Given the description of an element on the screen output the (x, y) to click on. 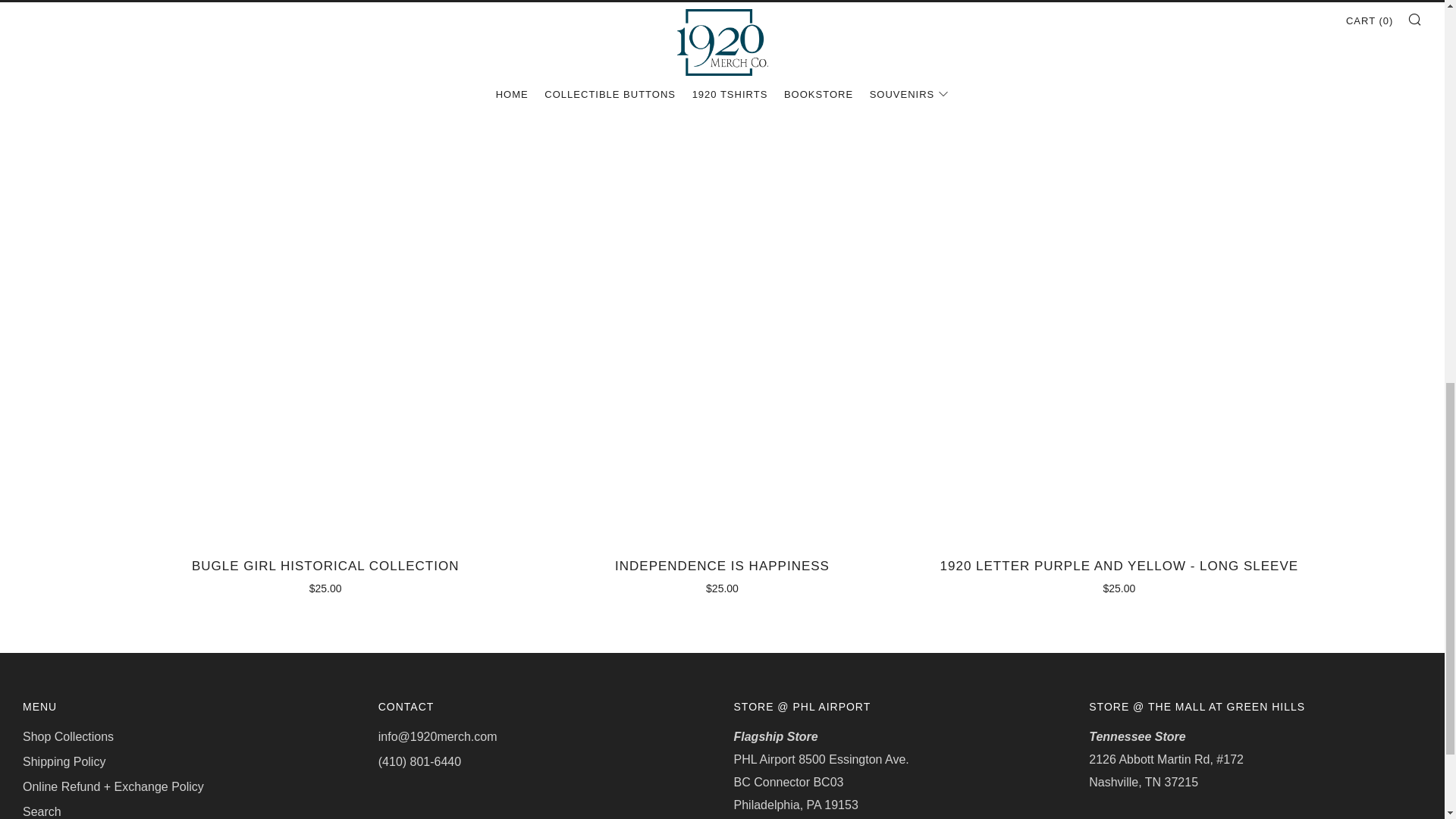
Independence is Happiness (721, 574)
1920 Letter Purple and Yellow - Long Sleeve (1118, 574)
Bugle Girl Historical Collection (325, 574)
